Given the description of an element on the screen output the (x, y) to click on. 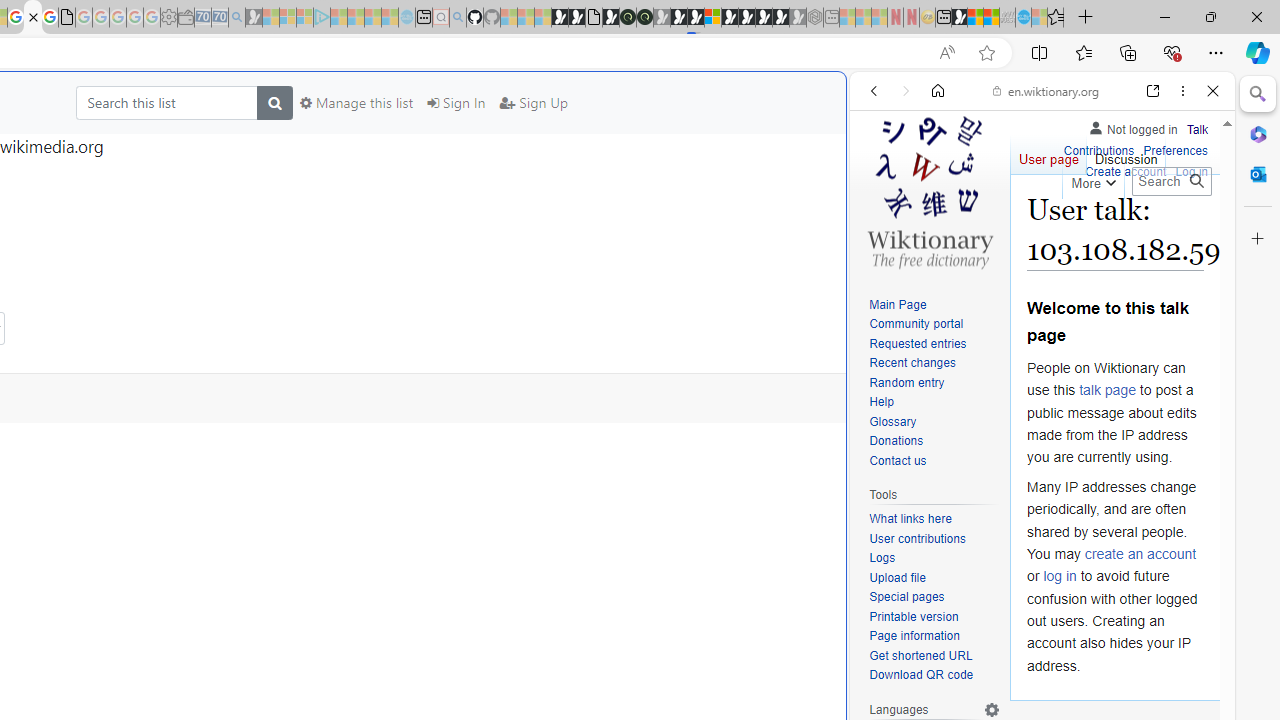
What links here (934, 519)
Search Wiktionary (1171, 181)
Discussion (1125, 154)
User contributions (917, 538)
Contributions (1098, 148)
create an account (1140, 553)
Main Page (934, 305)
